Given the description of an element on the screen output the (x, y) to click on. 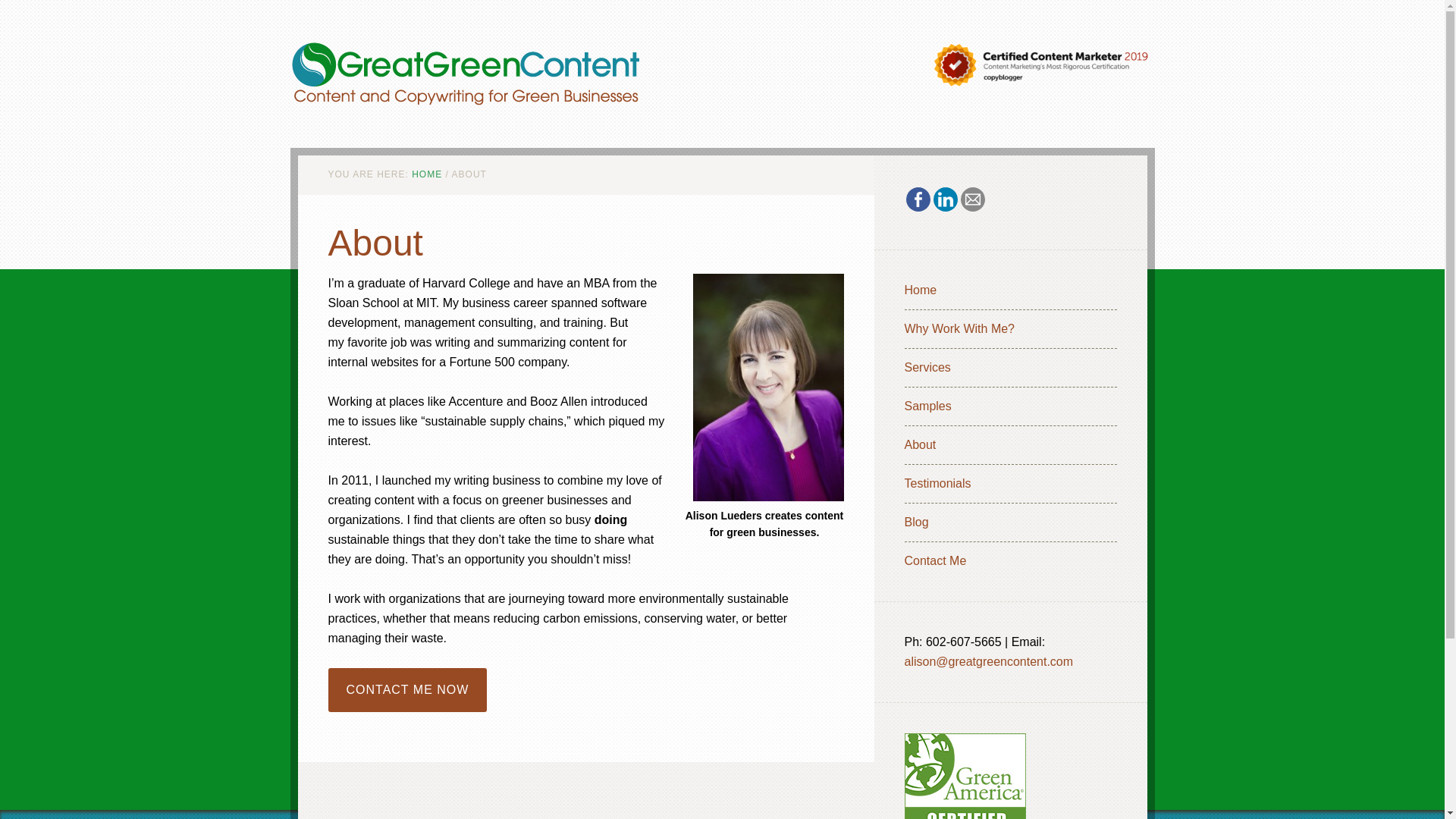
Contact Me (406, 689)
CONTACT ME NOW (406, 689)
Contact Me (935, 560)
Services (927, 367)
Testimonials (937, 482)
Why Work With Me? (959, 328)
Home (920, 289)
Blog (916, 521)
Connect On Linked In (944, 199)
About (920, 444)
